Given the description of an element on the screen output the (x, y) to click on. 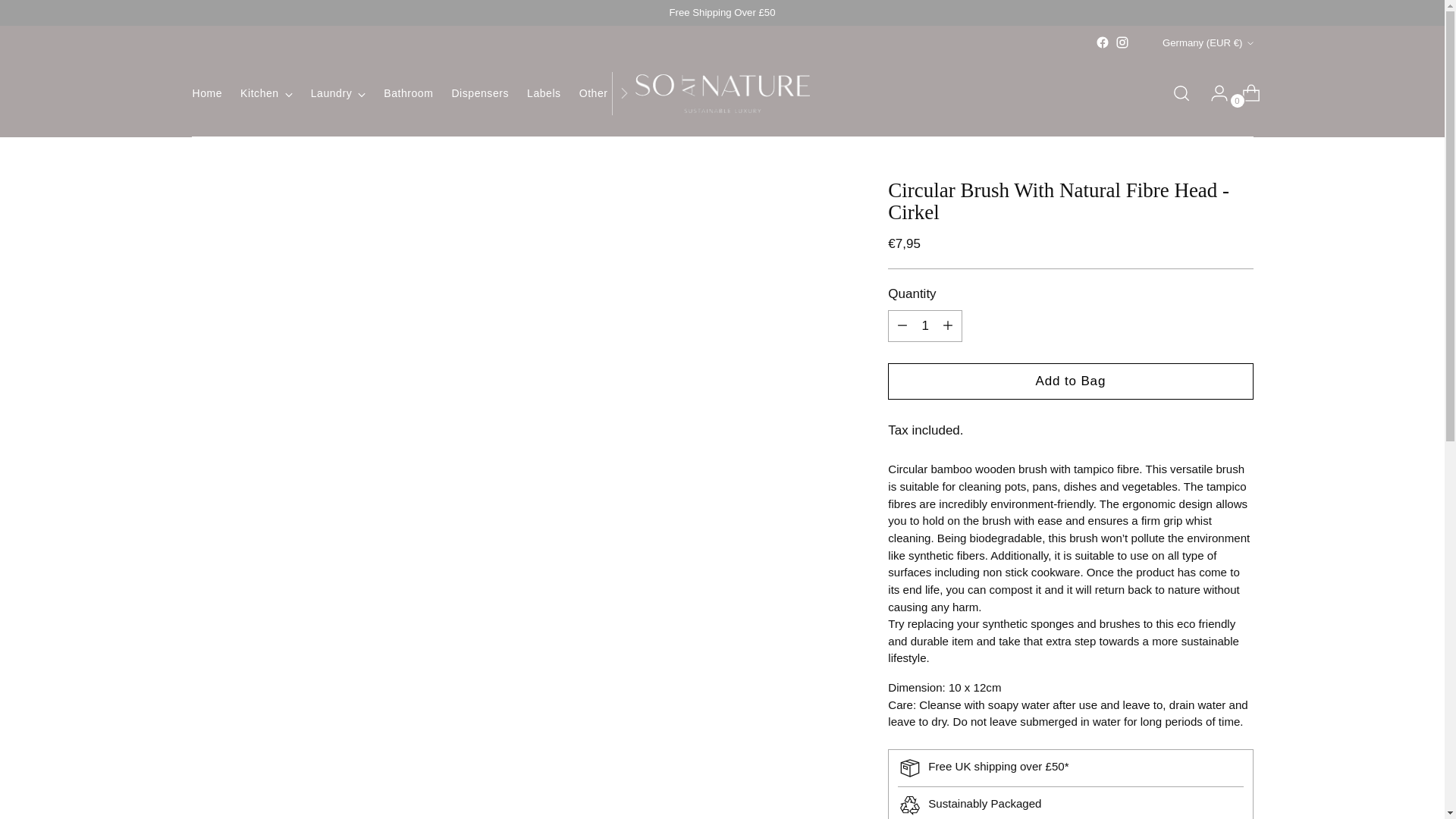
So At Nature on Facebook (1102, 42)
Other (600, 92)
So At Nature on Instagram (1122, 42)
1 (925, 326)
Laundry (338, 92)
Labels (543, 92)
Home (207, 92)
Kitchen (266, 92)
Bathroom (408, 92)
Contact (785, 92)
0 (1245, 92)
Dispensers (479, 92)
Inspirations (669, 92)
